Given the description of an element on the screen output the (x, y) to click on. 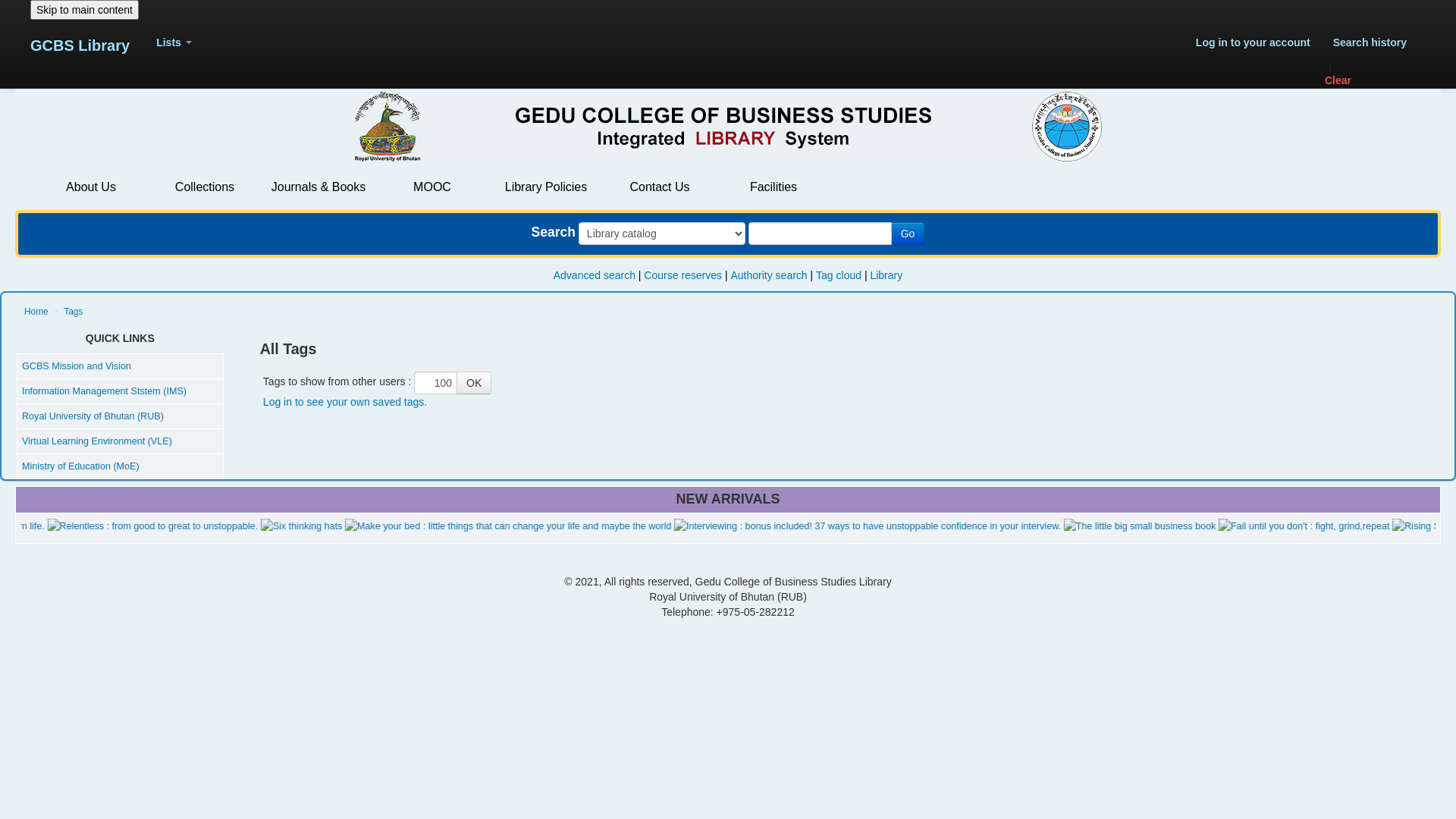
Home Element type: text (36, 311)
Go Element type: text (908, 233)
Tag cloud Element type: text (838, 275)
Facilities Element type: text (773, 187)
Royal University of Bhutan (RUB) Element type: text (92, 416)
Library Policies Element type: text (545, 187)
Virtual Learning Environment (VLE) Element type: text (96, 441)
Contact Us Element type: text (659, 187)
GCBS Mission and Vision Element type: text (76, 365)
Course reserves Element type: text (682, 275)
MOOC Element type: text (432, 187)
GCBS Library Element type: text (79, 45)
Library Element type: text (885, 275)
OK Element type: text (473, 382)
Type search term Element type: hover (819, 233)
Lists Element type: text (173, 42)
Authority search Element type: text (768, 275)
Skip to main content Element type: text (84, 9)
Ministry of Education (MoE) Element type: text (80, 466)
Tags Element type: text (72, 311)
Clear Element type: text (1369, 79)
Information Management Ststem (IMS) Element type: text (103, 390)
About Us Element type: text (90, 187)
Search history Element type: text (1369, 42)
Collections Element type: text (204, 187)
Advanced search Element type: text (594, 275)
Log in to your account Element type: text (1252, 42)
Journals & Books Element type: text (318, 187)
Log in to see your own saved tags. Element type: text (344, 401)
